Given the description of an element on the screen output the (x, y) to click on. 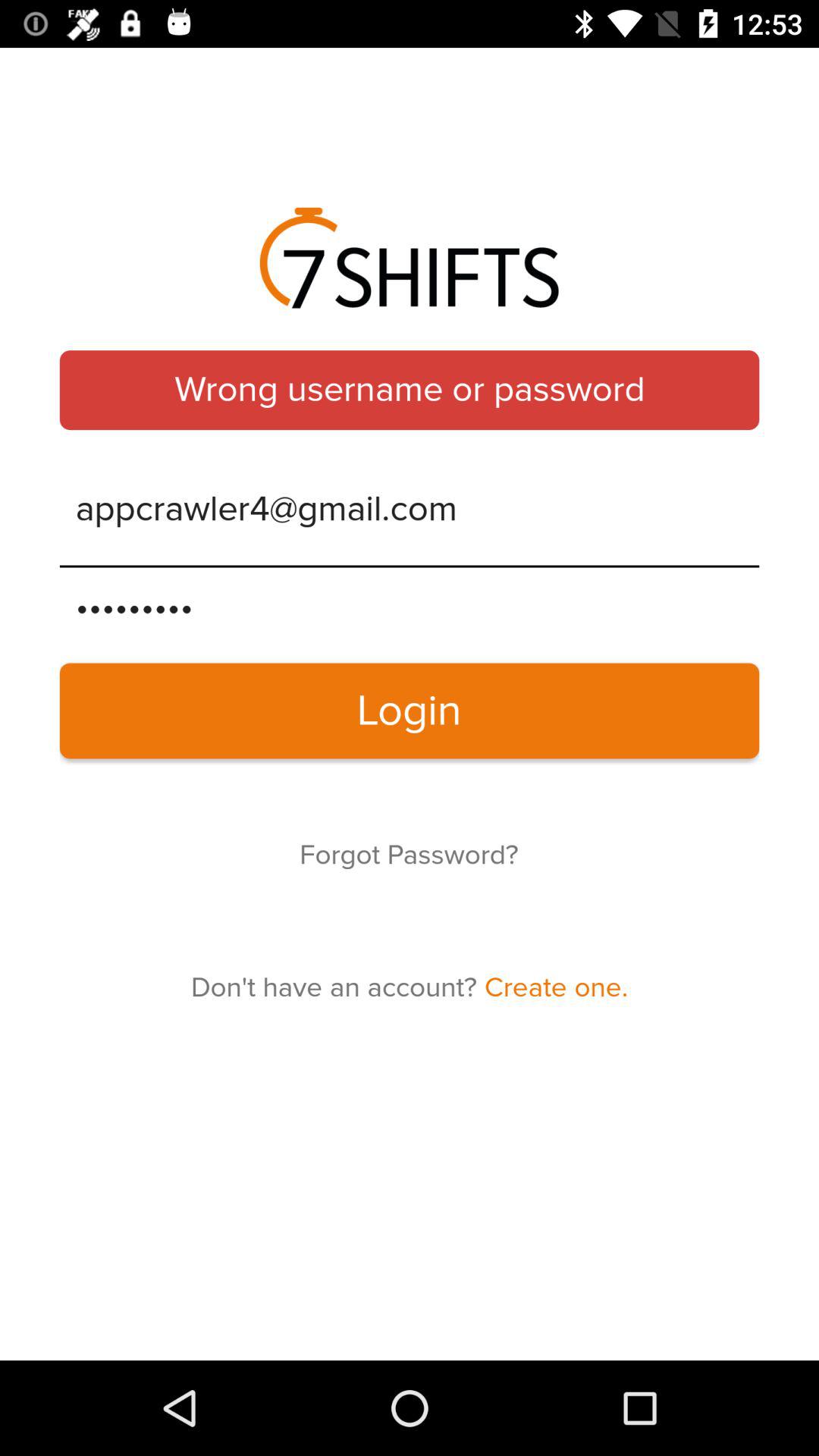
swipe until appcrawler4@gmail.com item (409, 509)
